Given the description of an element on the screen output the (x, y) to click on. 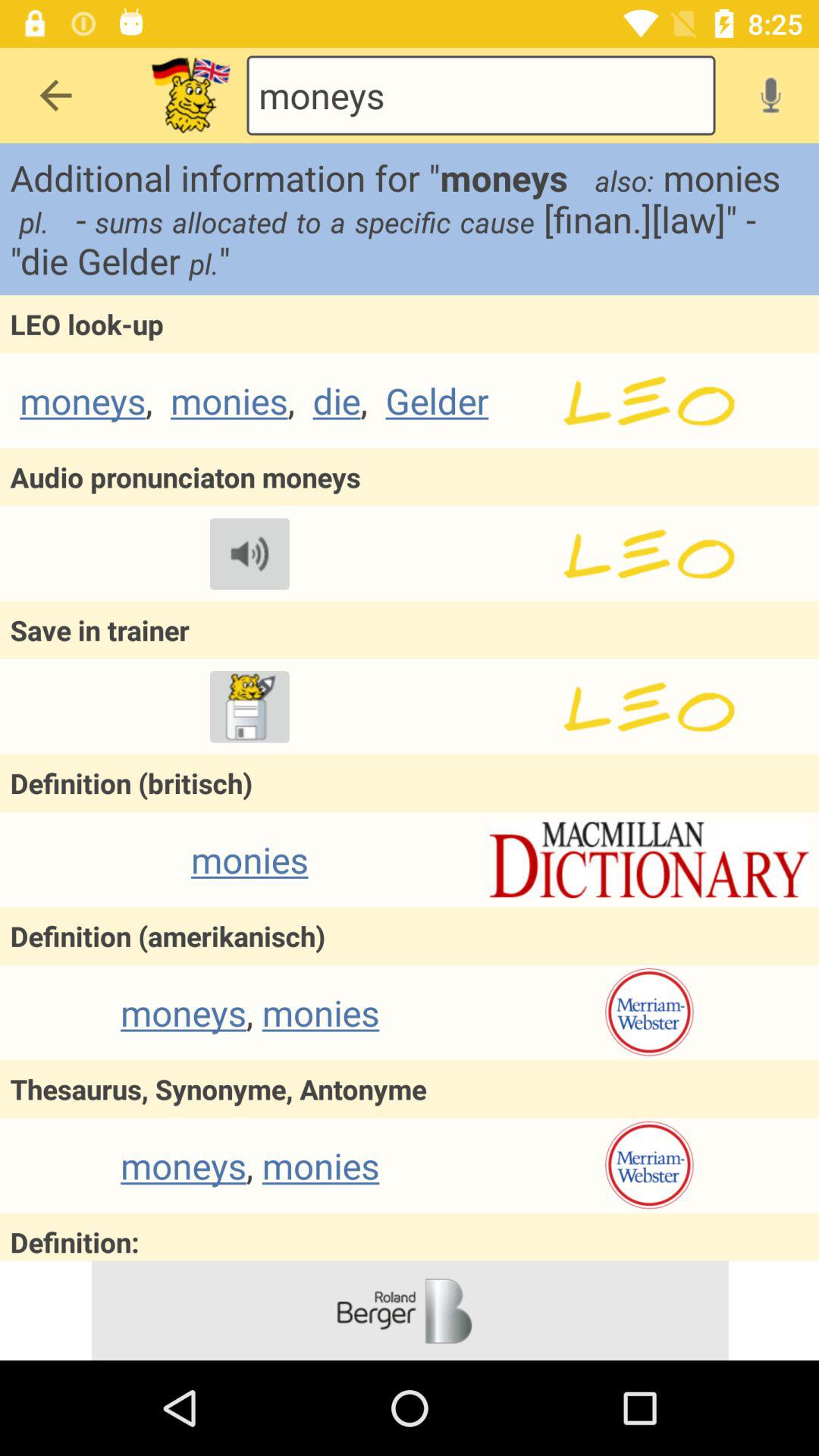
go to merriam webster website (648, 1165)
